Given the description of an element on the screen output the (x, y) to click on. 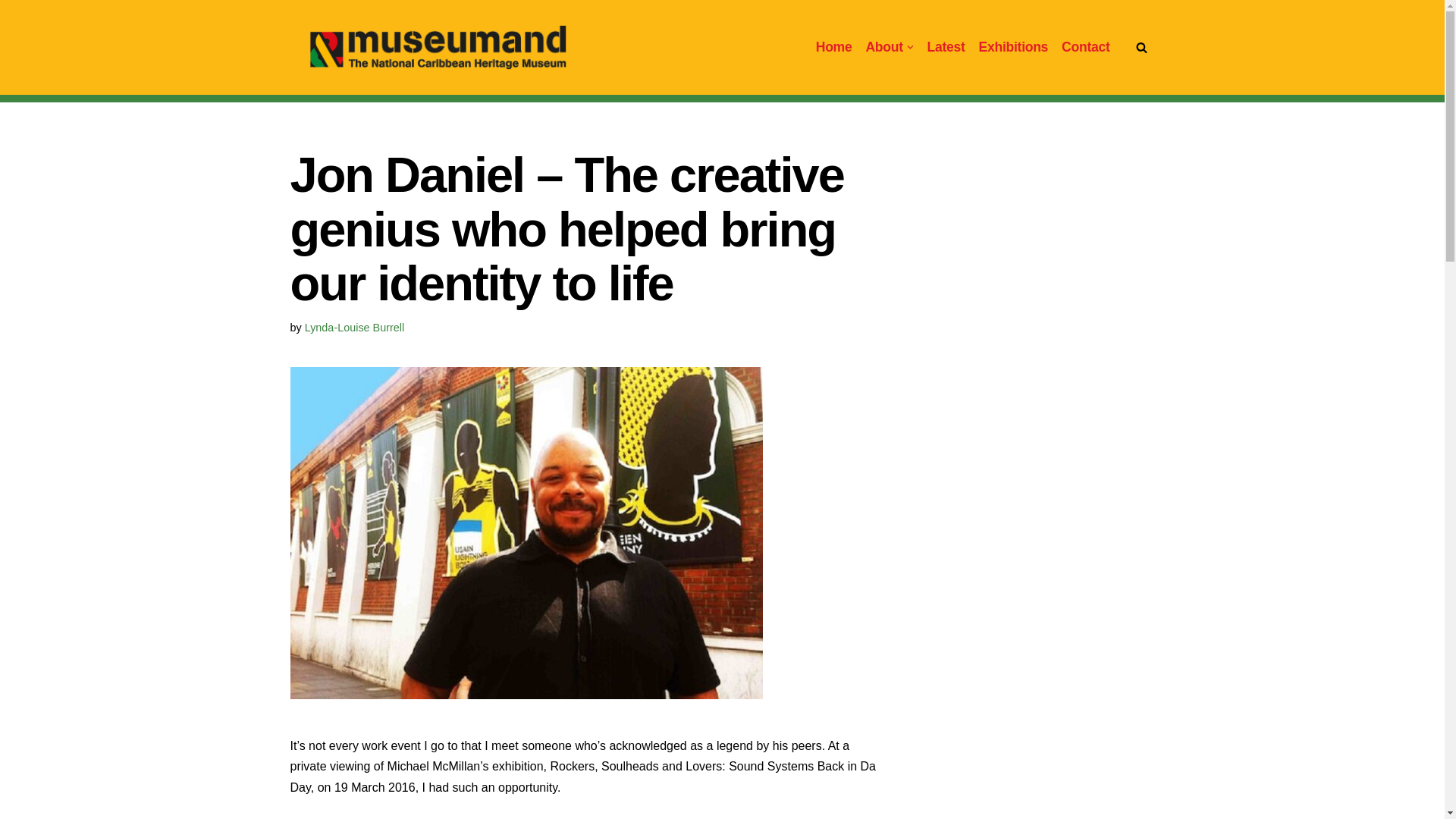
Posts by Lynda-Louise Burrell (354, 327)
Skip to content (11, 31)
Home (833, 46)
Exhibitions (1013, 46)
Lynda-Louise Burrell (354, 327)
About (883, 46)
Latest (946, 46)
Contact (1085, 46)
